Given the description of an element on the screen output the (x, y) to click on. 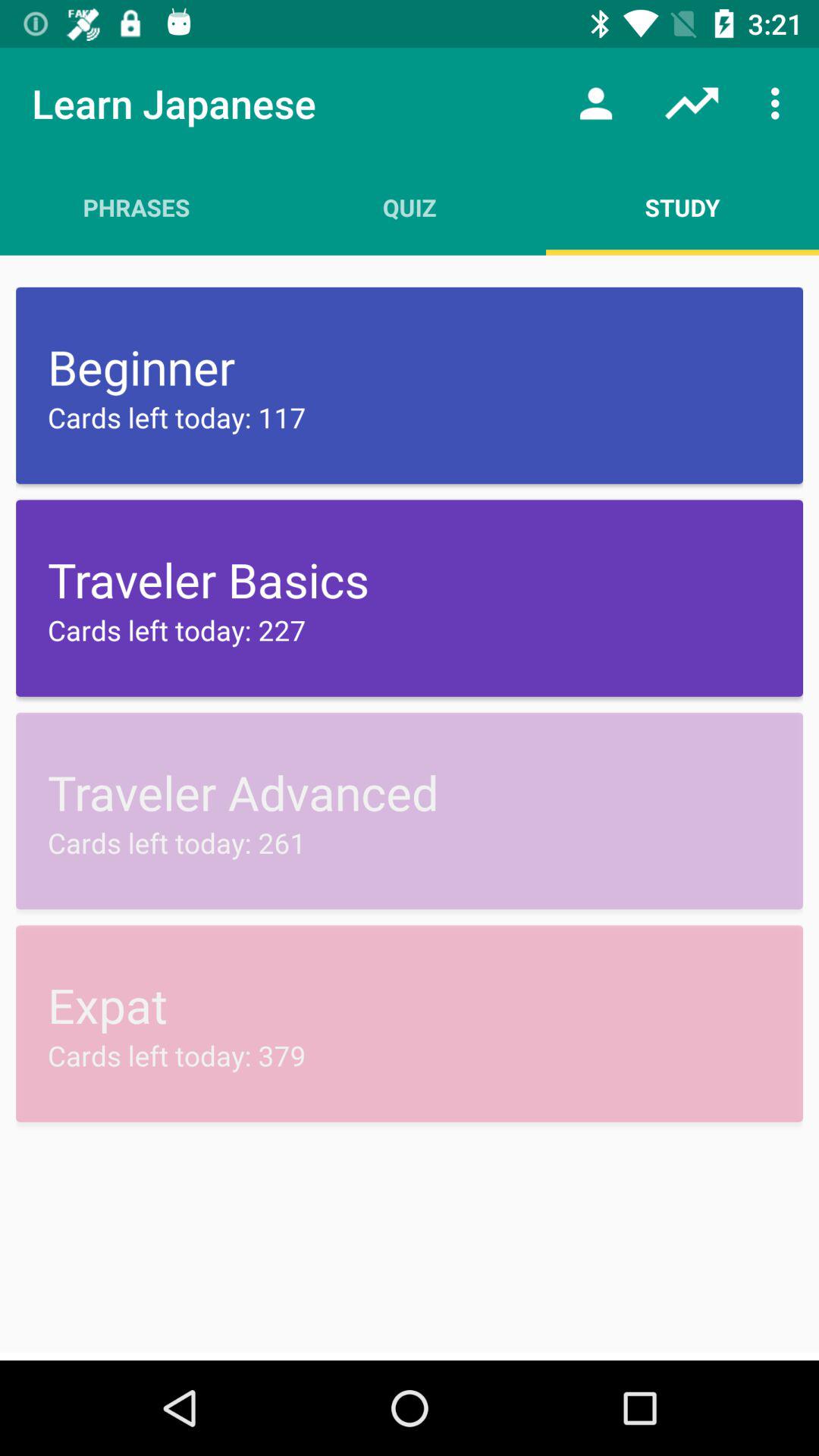
turn on app to the right of phrases (409, 207)
